Given the description of an element on the screen output the (x, y) to click on. 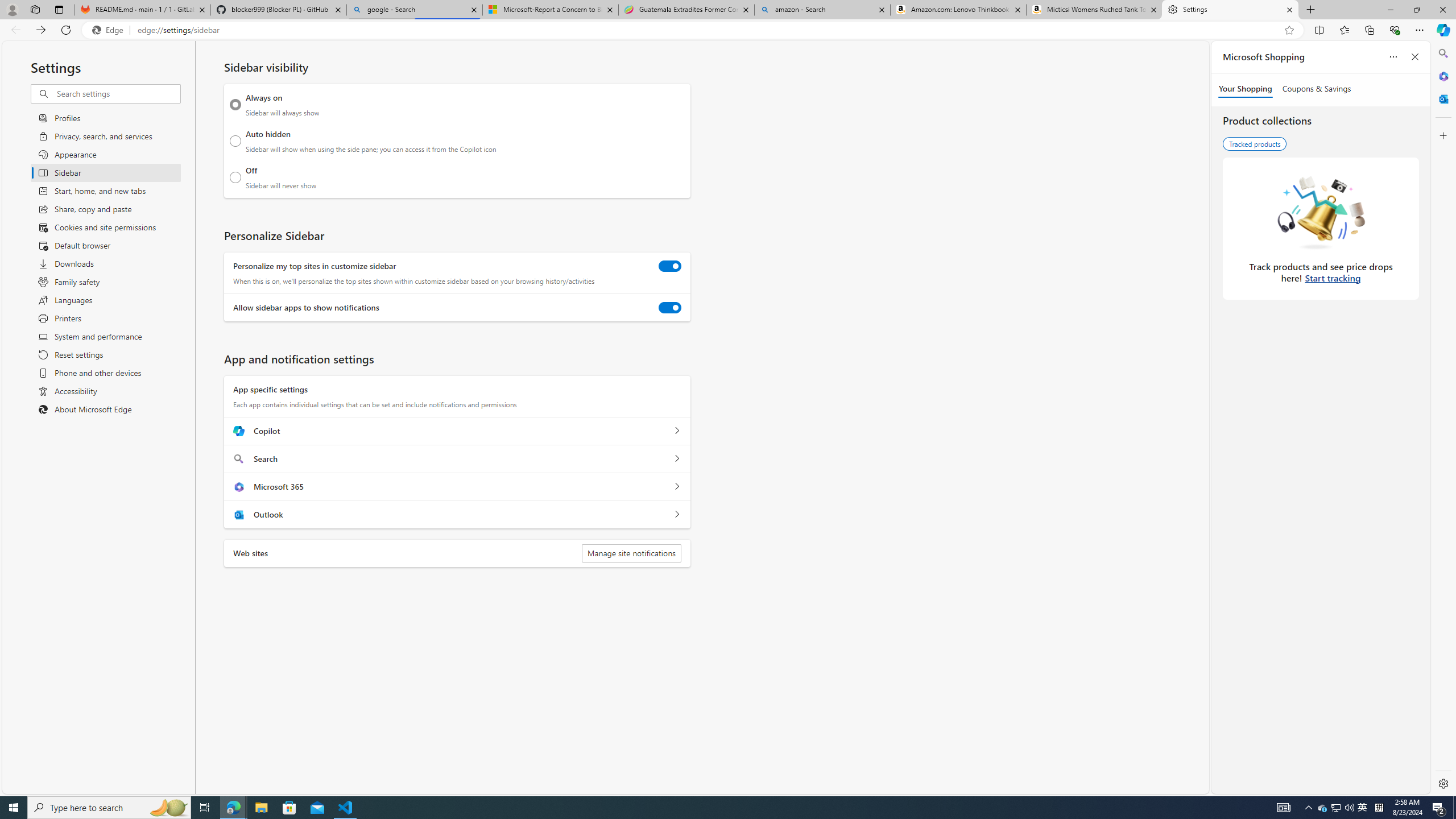
Personalize my top sites in customize sidebar (669, 265)
Copilot (676, 430)
Always on Sidebar will always show (235, 104)
Off Sidebar will never show (235, 177)
